Given the description of an element on the screen output the (x, y) to click on. 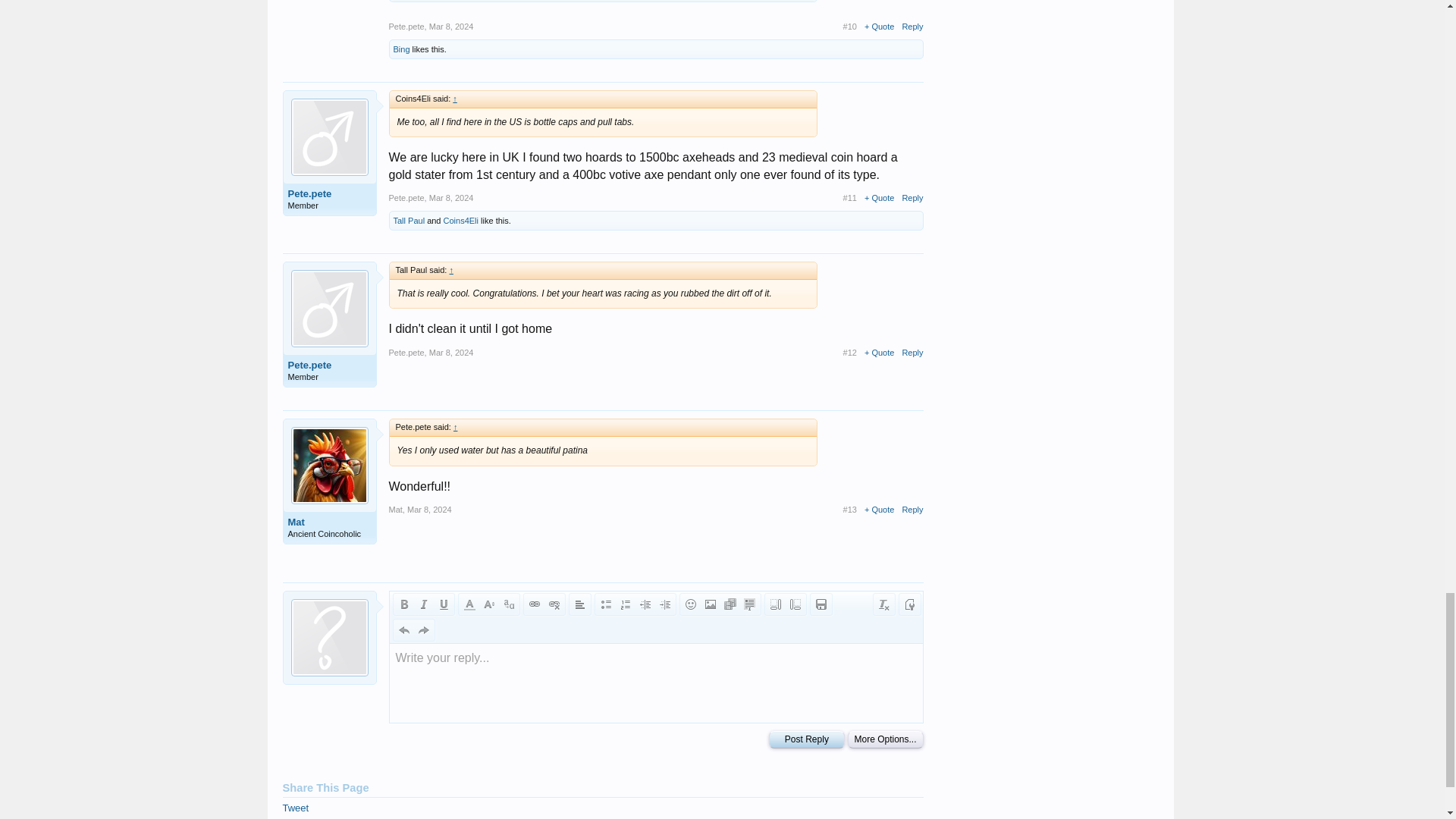
Post Reply (806, 739)
More Options... (885, 739)
